Given the description of an element on the screen output the (x, y) to click on. 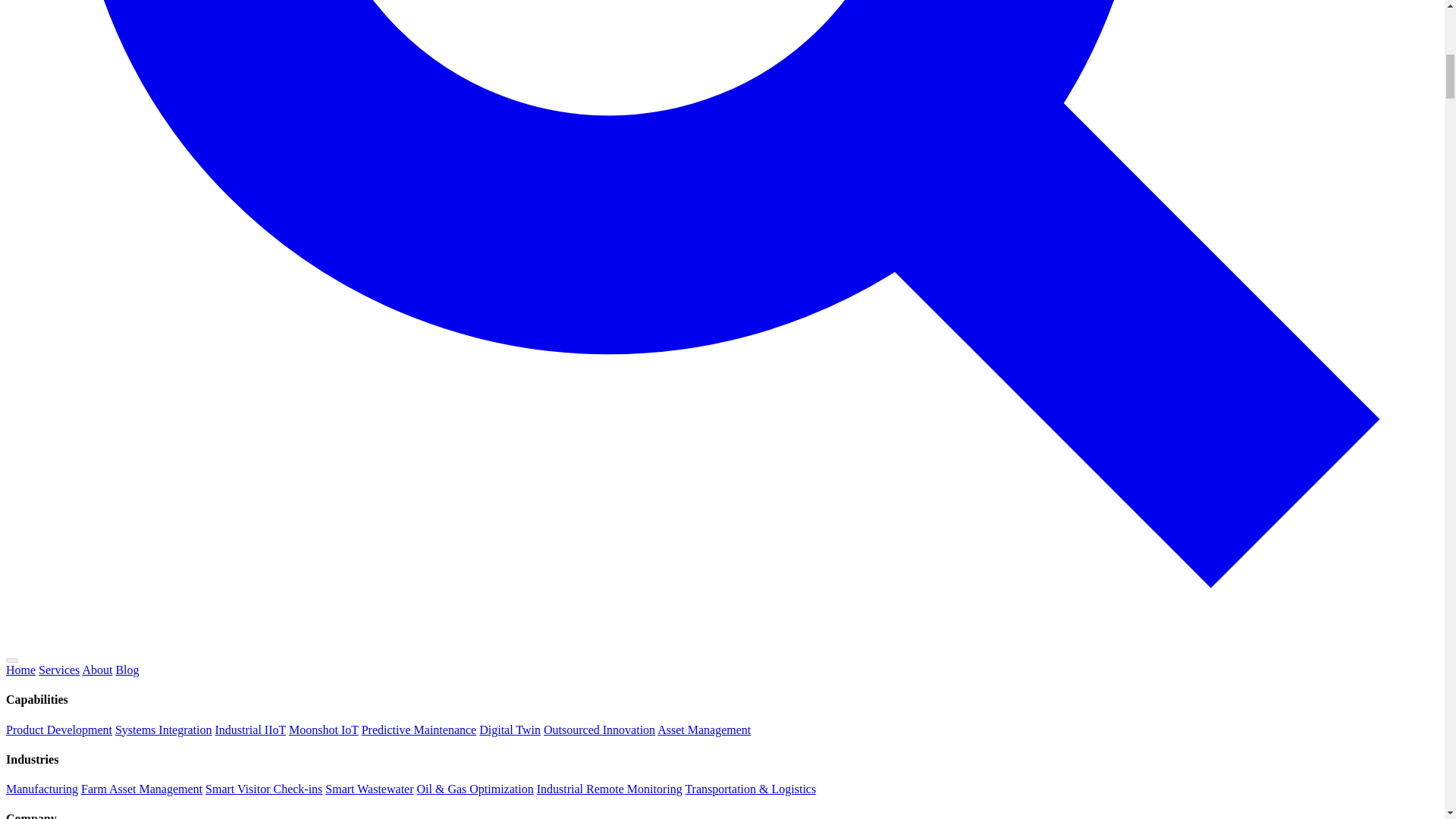
Product Development (58, 729)
Outsourced Innovation (599, 729)
Smart Wastewater (368, 788)
Predictive Maintenance (419, 729)
Services (59, 669)
Asset Management (704, 729)
Smart Visitor Check-ins (263, 788)
Blog (126, 669)
About (96, 669)
Digital Twin (509, 729)
